Given the description of an element on the screen output the (x, y) to click on. 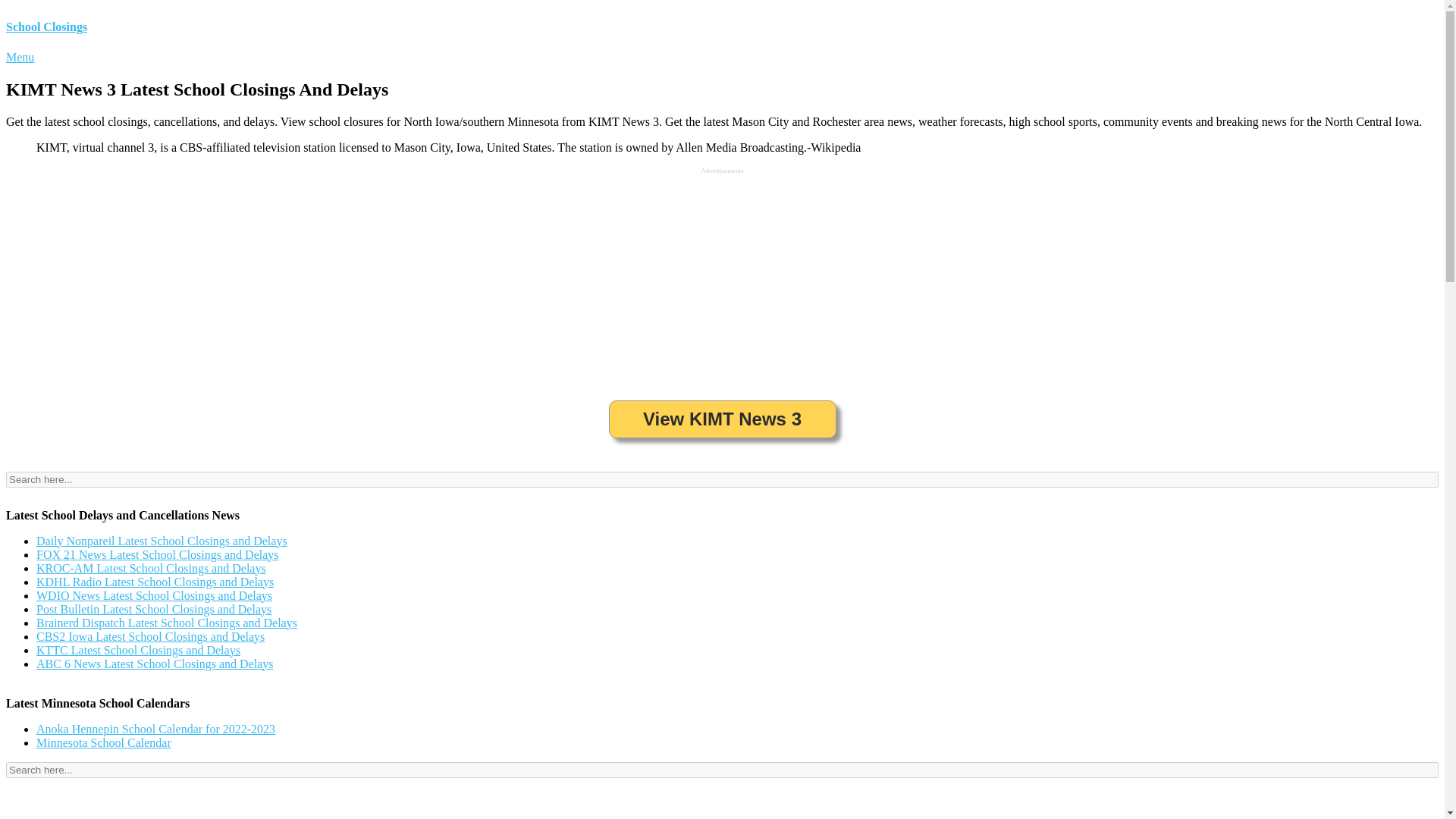
WDIO News Latest School Closings and Delays (154, 594)
KTTC Latest School Closings and Delays (138, 649)
KDHL Radio Latest School Closings and Delays (154, 581)
Daily Nonpareil Latest School Closings and Delays (161, 540)
School Closings (46, 26)
KROC-AM Latest School Closings and Delays (151, 567)
View KIMT News 3 (721, 419)
CBS2 Iowa Latest School Closings and Delays (150, 635)
Menu (19, 56)
FOX 21 News Latest School Closings and Delays (157, 554)
Post Bulletin Latest School Closings and Delays (153, 608)
Brainerd Dispatch Latest School Closings and Delays (166, 622)
ABC 6 News Latest School Closings and Delays (154, 663)
Anoka Hennepin School Calendar for 2022-2023 (155, 728)
Minnesota School Calendar (103, 742)
